Given the description of an element on the screen output the (x, y) to click on. 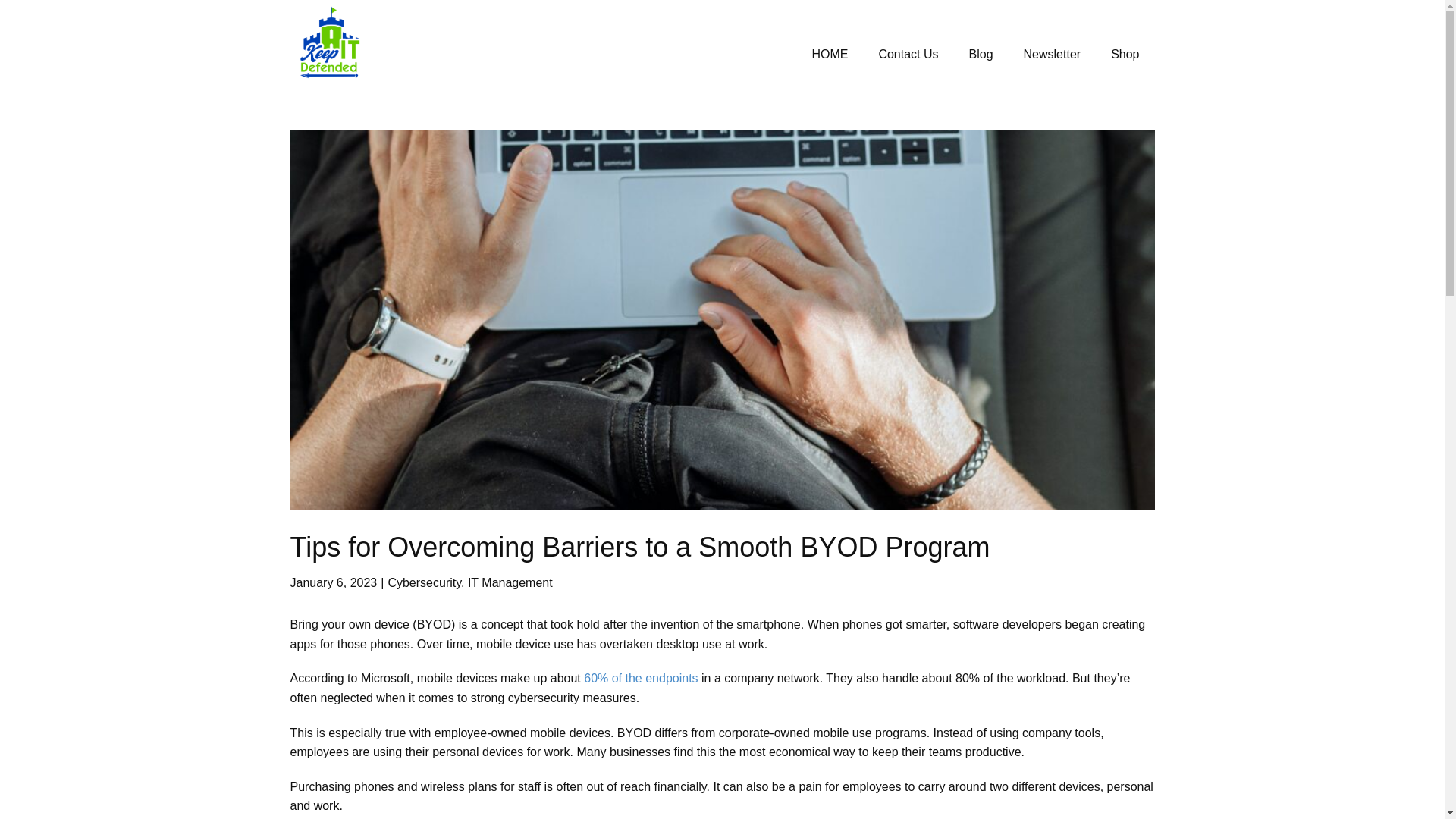
HOME (829, 53)
Shop (1125, 53)
IT Management (510, 582)
Newsletter (1052, 53)
Blog (981, 53)
Cybersecurity (424, 582)
Contact Us (908, 53)
